Given the description of an element on the screen output the (x, y) to click on. 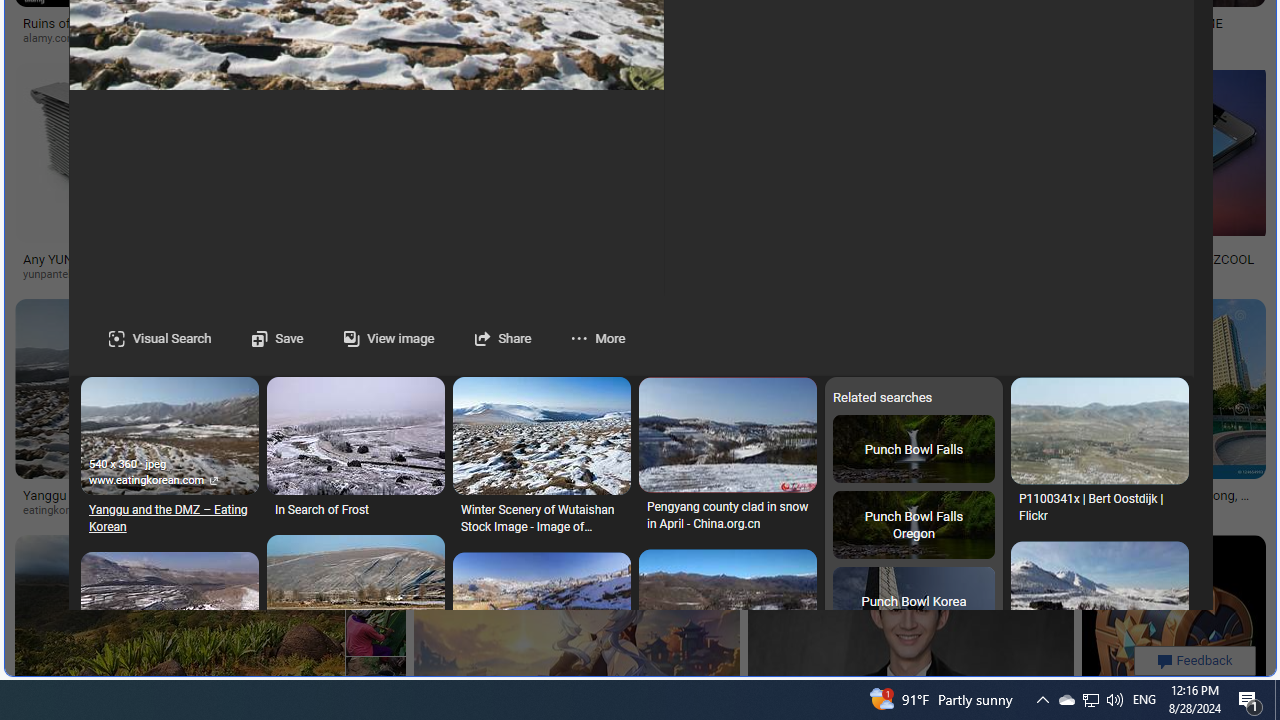
www.eatingkorean.com (169, 481)
dreamstime.com (533, 509)
zcool.com.cn (1160, 274)
eatingkorean.com (127, 511)
SaveIn Search of Frost (355, 452)
